Given the description of an element on the screen output the (x, y) to click on. 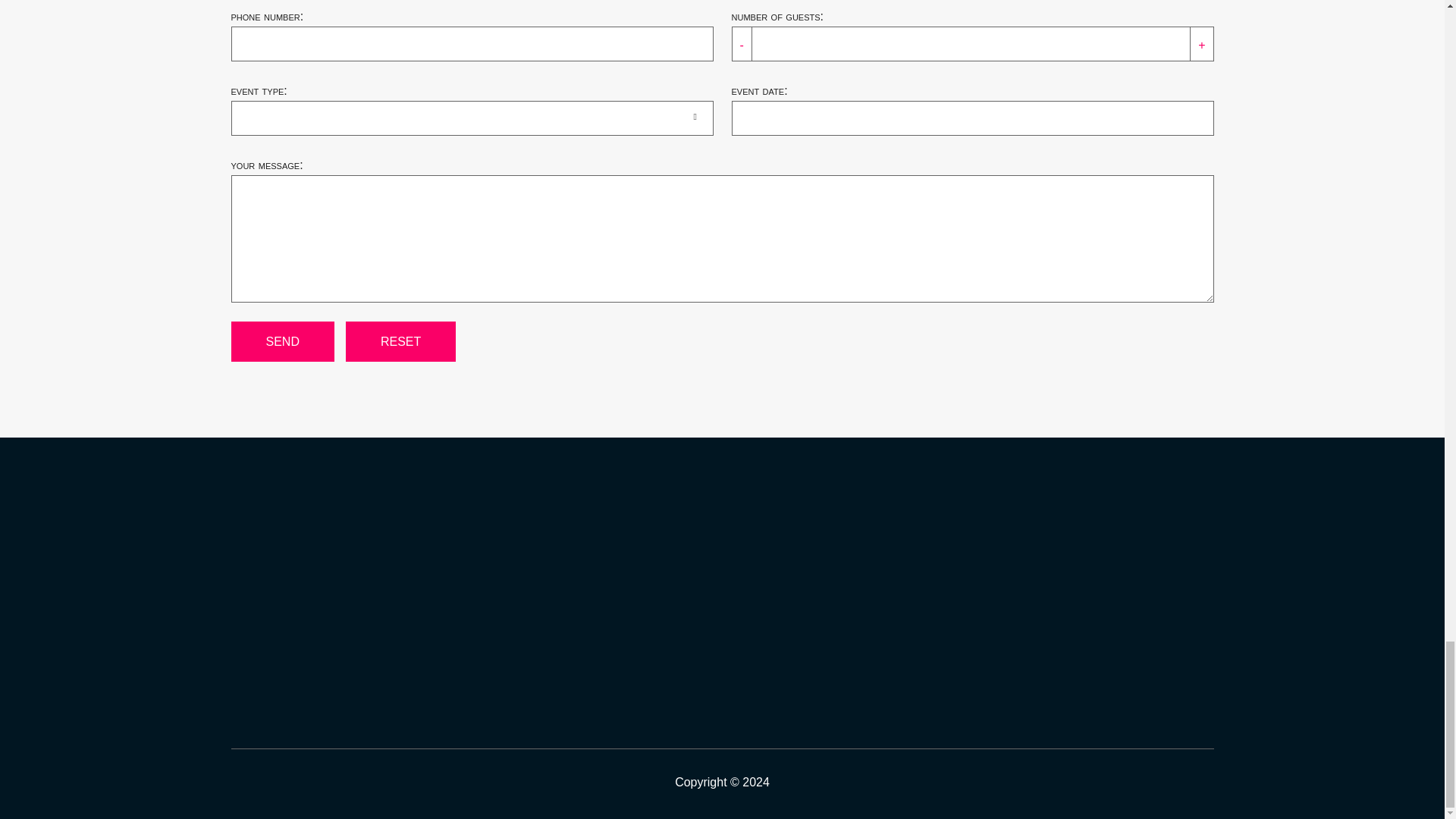
Send (281, 341)
Send (281, 341)
Reset (400, 341)
